Given the description of an element on the screen output the (x, y) to click on. 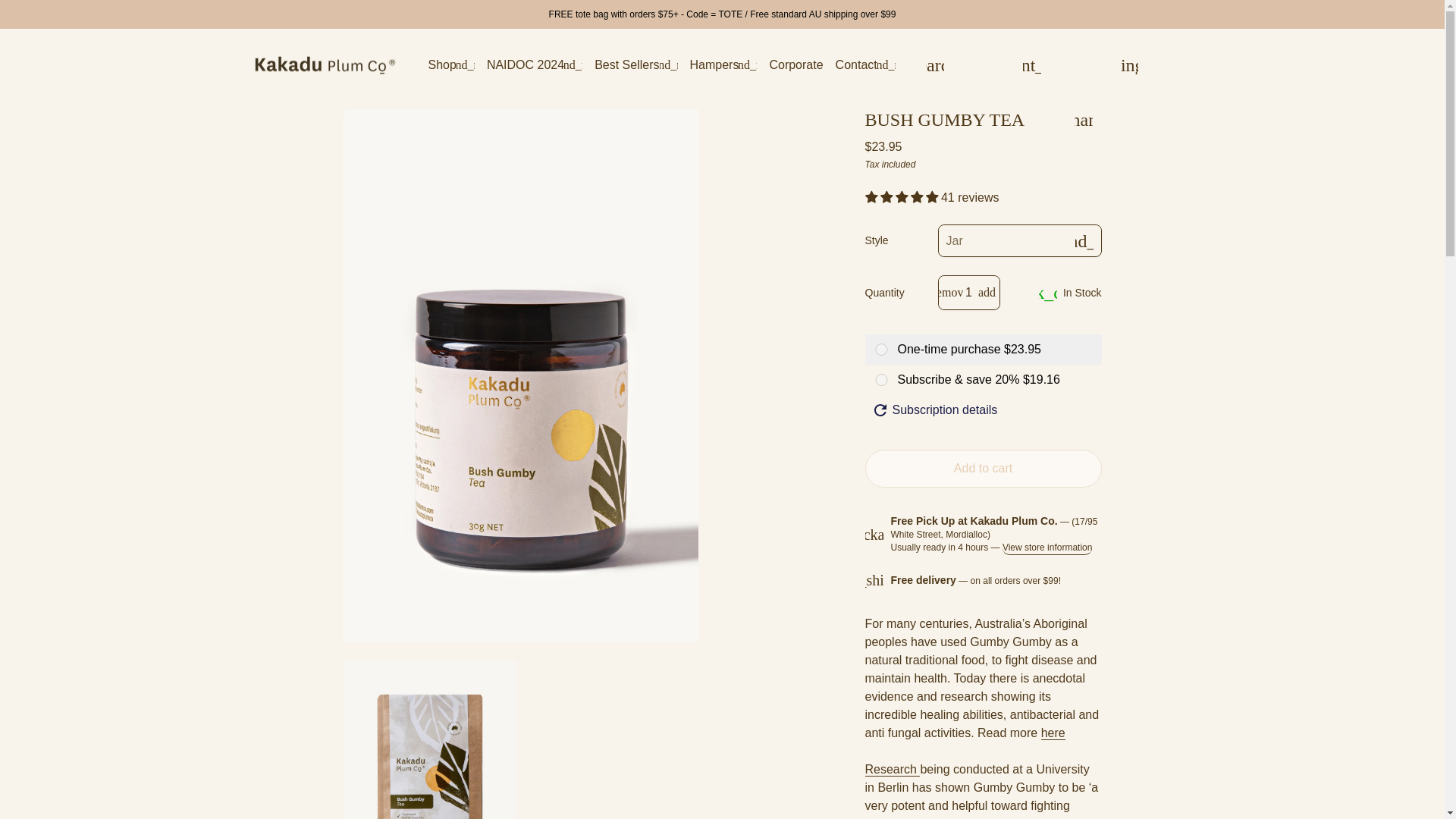
subscription (880, 379)
1 (968, 292)
onetime (880, 349)
